Given the description of an element on the screen output the (x, y) to click on. 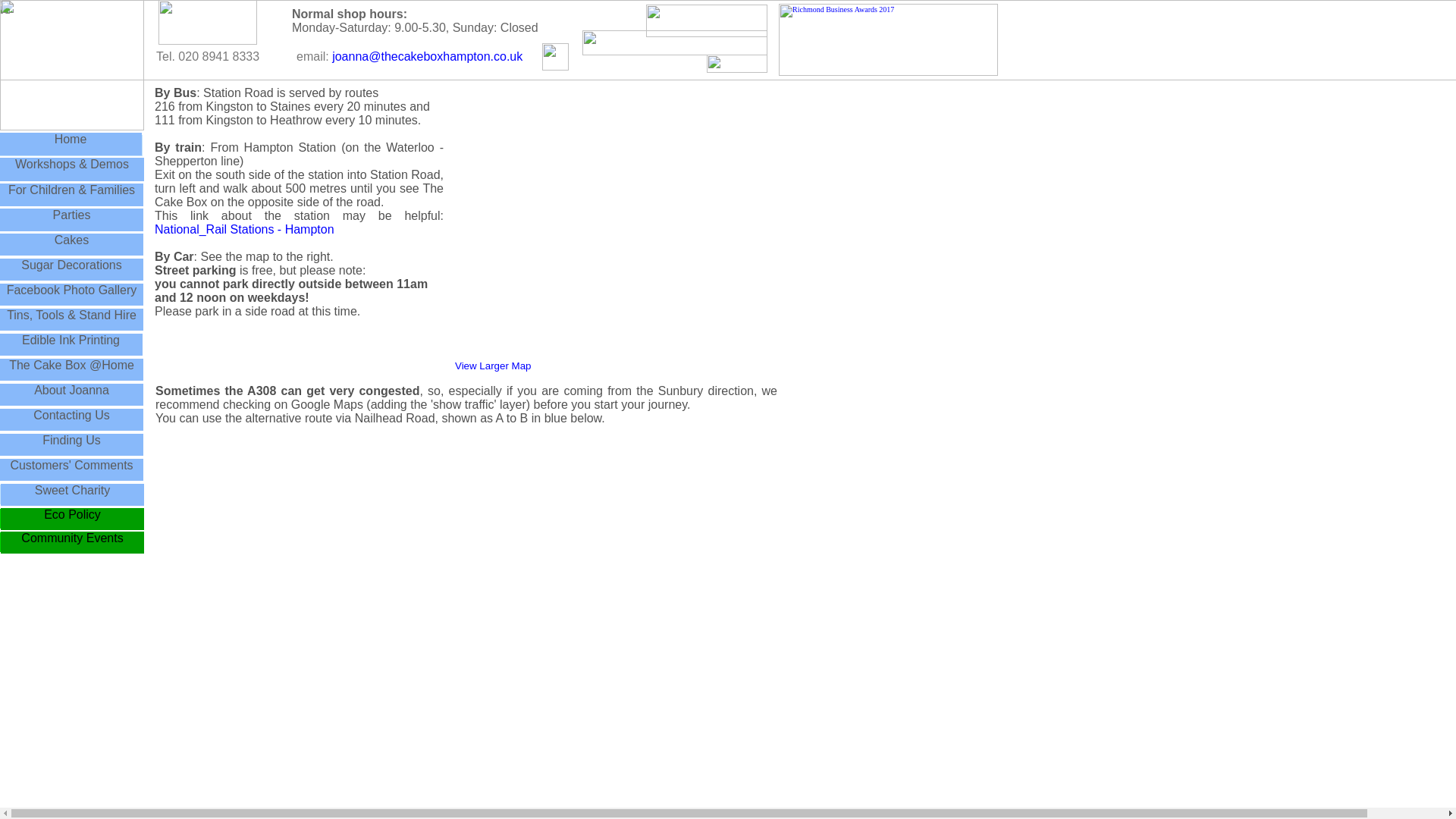
Parties (71, 214)
Eco Policy (71, 515)
Community Events (71, 539)
Facebook Photo Gallery (71, 291)
View Larger Map (492, 365)
Edible Ink Printing (71, 341)
Finding Us (71, 440)
Sweet Charity (71, 490)
Home (71, 141)
Customers' Comments (70, 467)
